Given the description of an element on the screen output the (x, y) to click on. 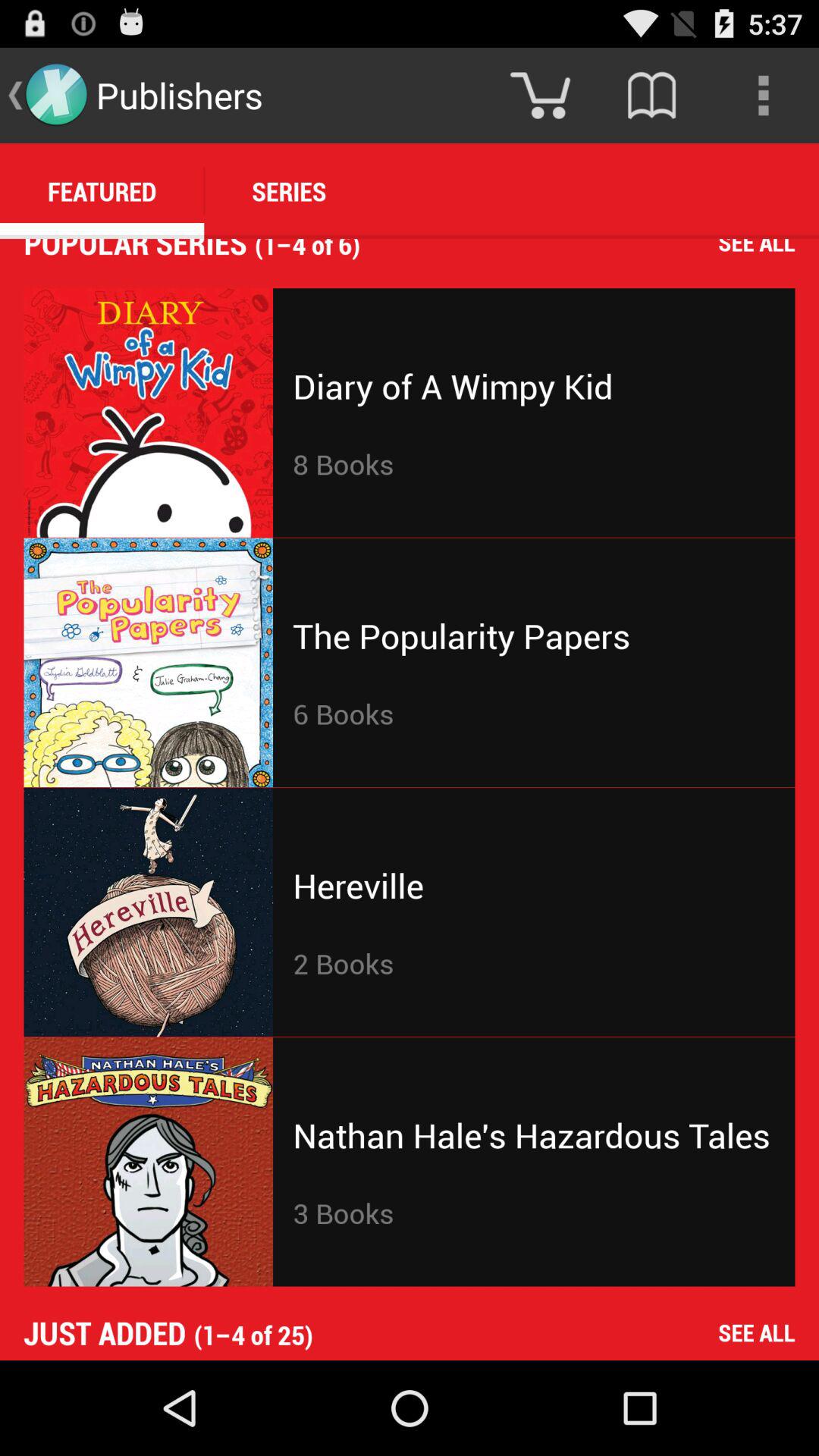
turn on the icon above the 1 4 of icon (763, 95)
